Given the description of an element on the screen output the (x, y) to click on. 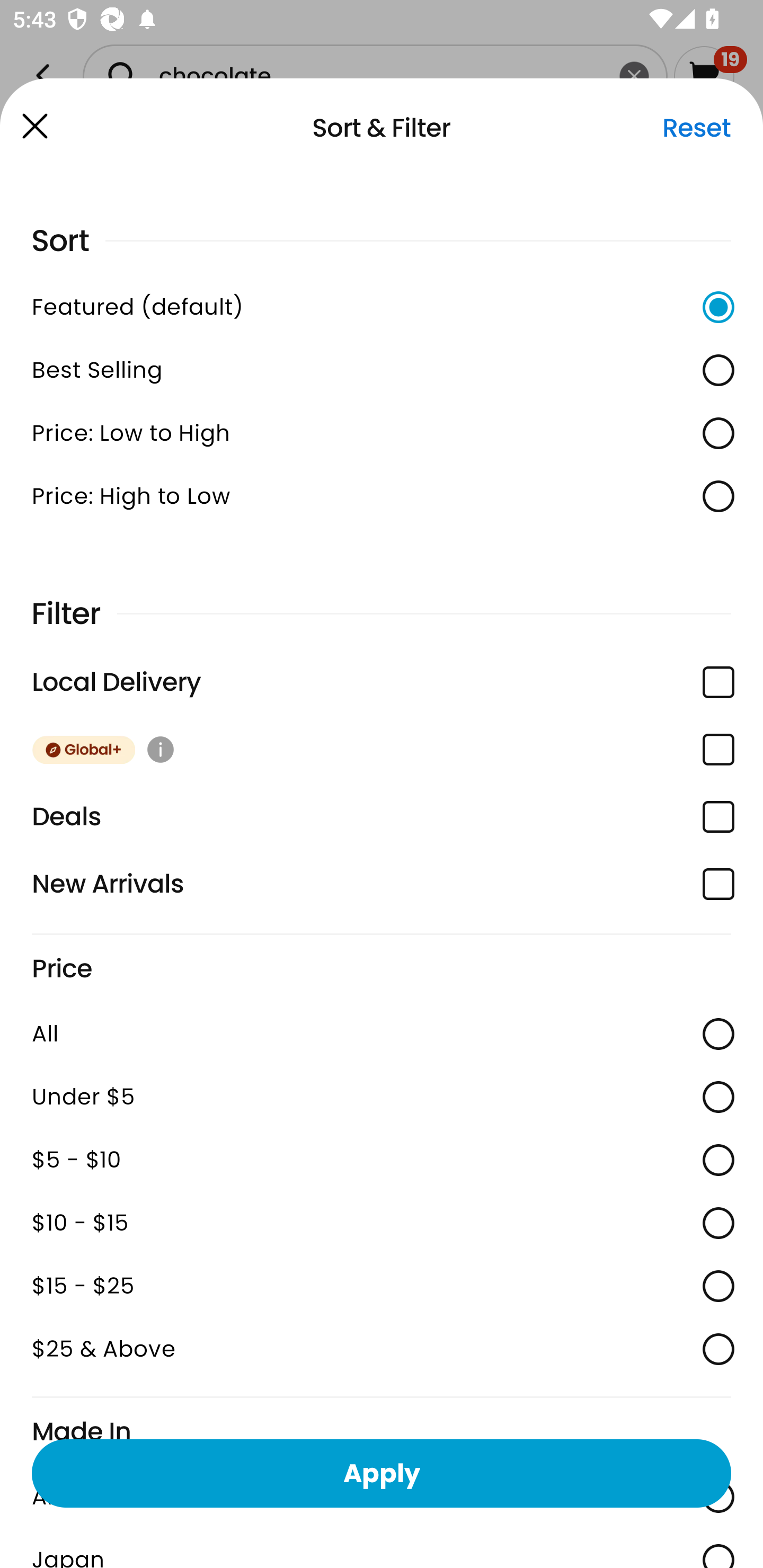
Reset (696, 127)
Apply (381, 1472)
